Given the description of an element on the screen output the (x, y) to click on. 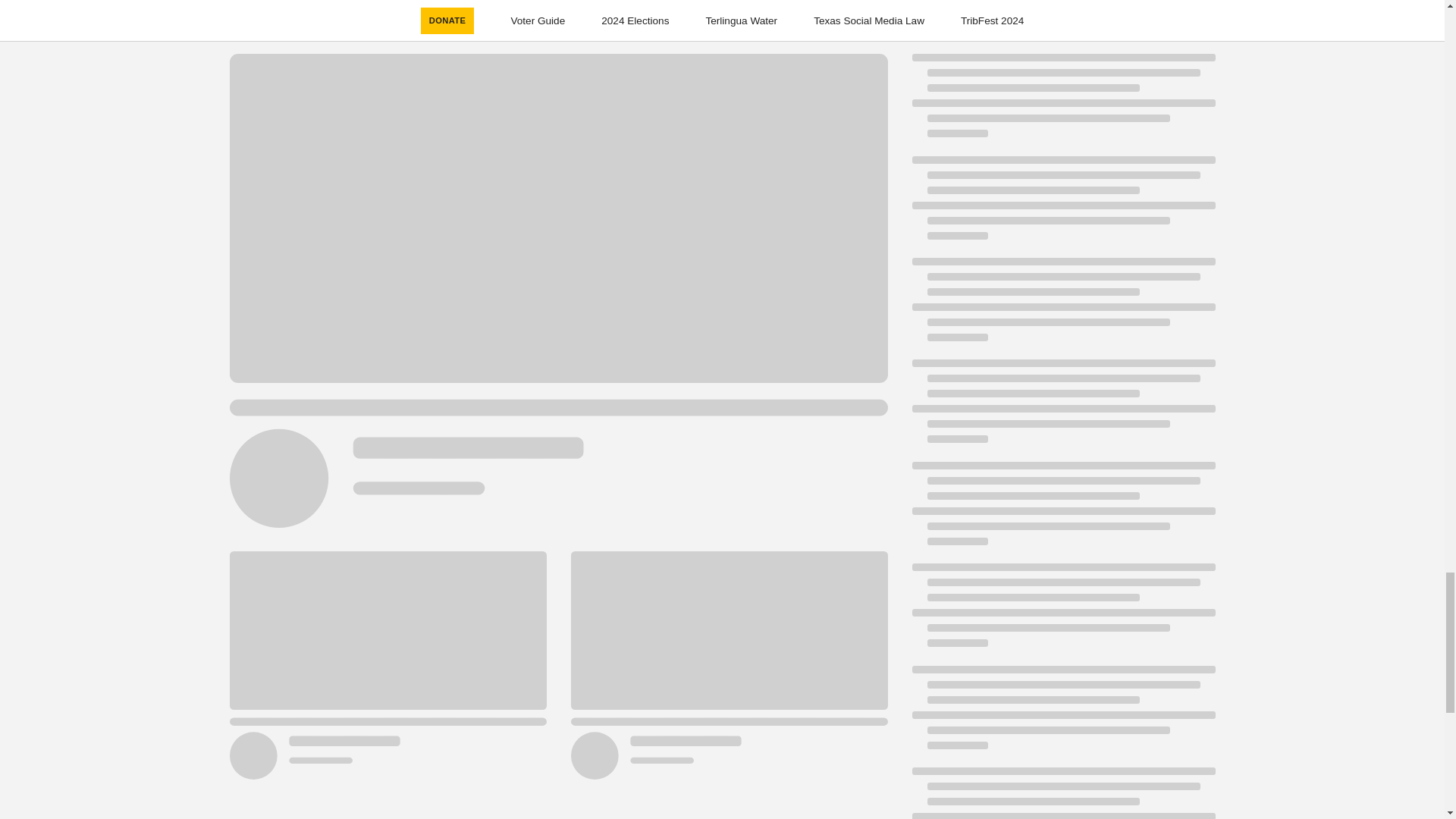
Loading indicator (1062, 306)
Loading indicator (1062, 205)
Loading indicator (1062, 714)
Loading indicator (1062, 793)
Loading indicator (1062, 408)
Loading indicator (1062, 103)
Loading indicator (1062, 510)
Loading indicator (1062, 612)
